Given the description of an element on the screen output the (x, y) to click on. 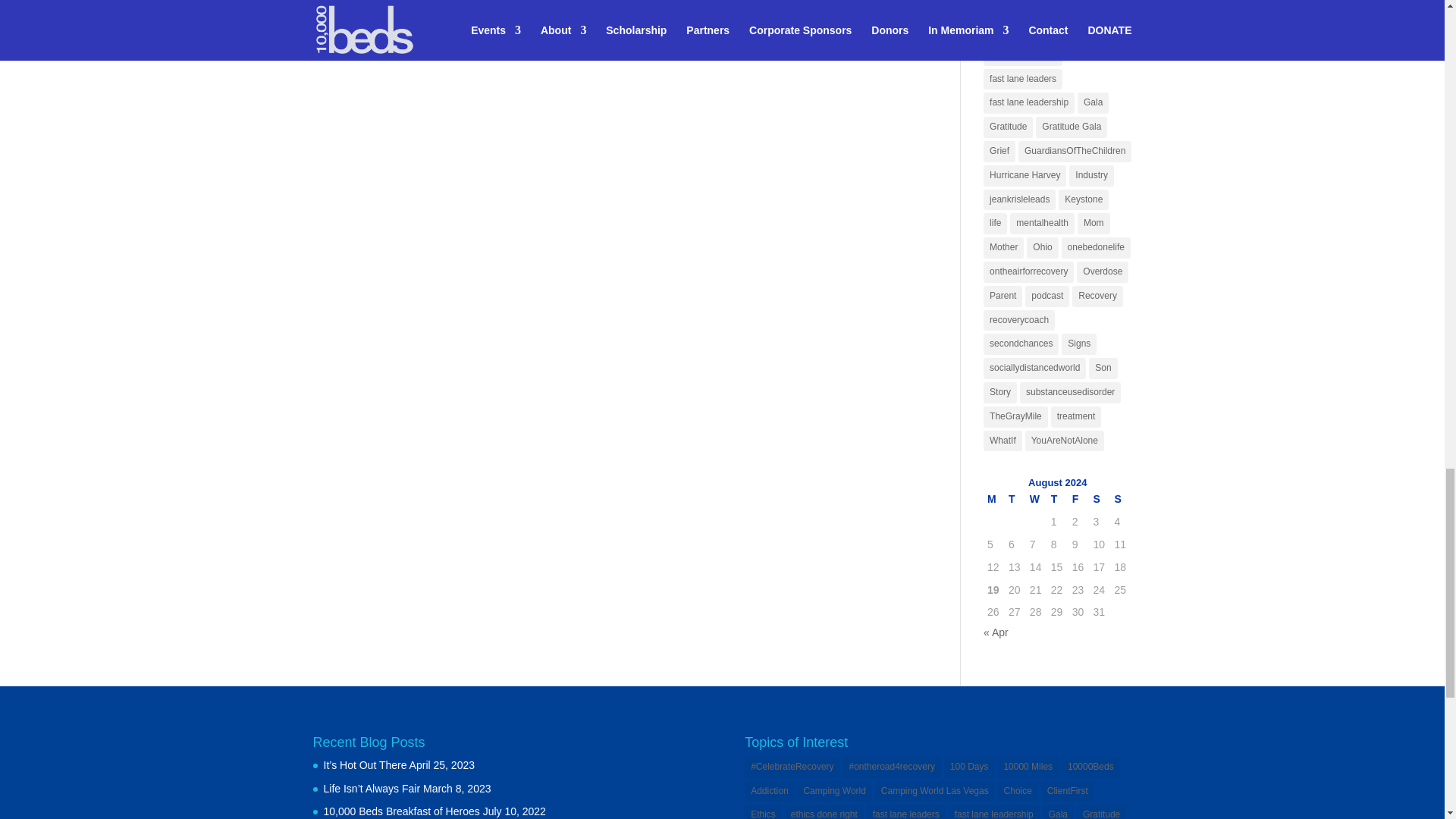
Friday (1078, 499)
Monday (994, 499)
Wednesday (1036, 499)
Thursday (1057, 499)
Saturday (1099, 499)
Sunday (1120, 499)
Tuesday (1015, 499)
